Given the description of an element on the screen output the (x, y) to click on. 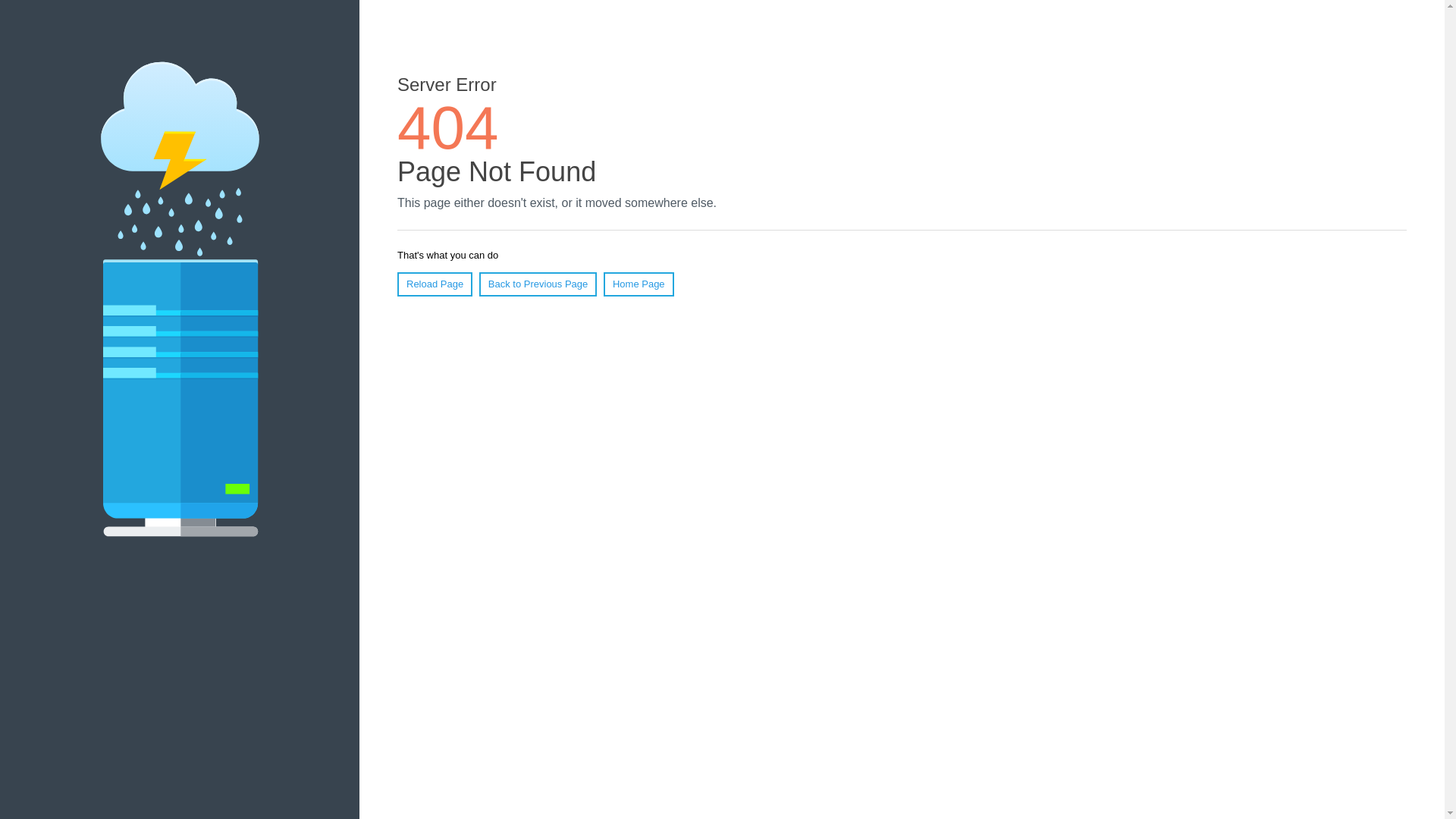
Back to Previous Page Element type: text (538, 284)
Reload Page Element type: text (434, 284)
Home Page Element type: text (638, 284)
